Given the description of an element on the screen output the (x, y) to click on. 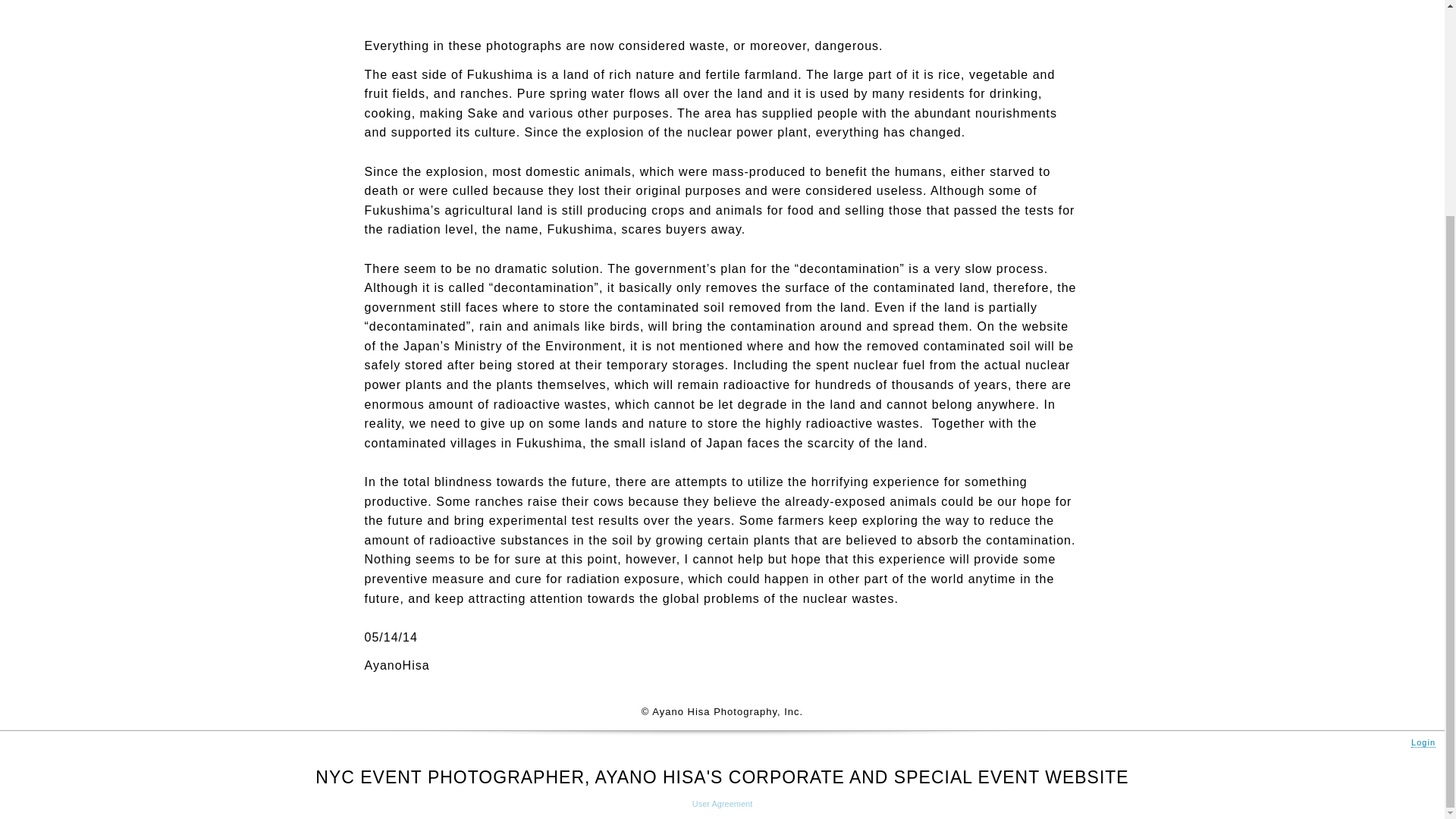
User Agreement (722, 803)
Login (1422, 742)
